Given the description of an element on the screen output the (x, y) to click on. 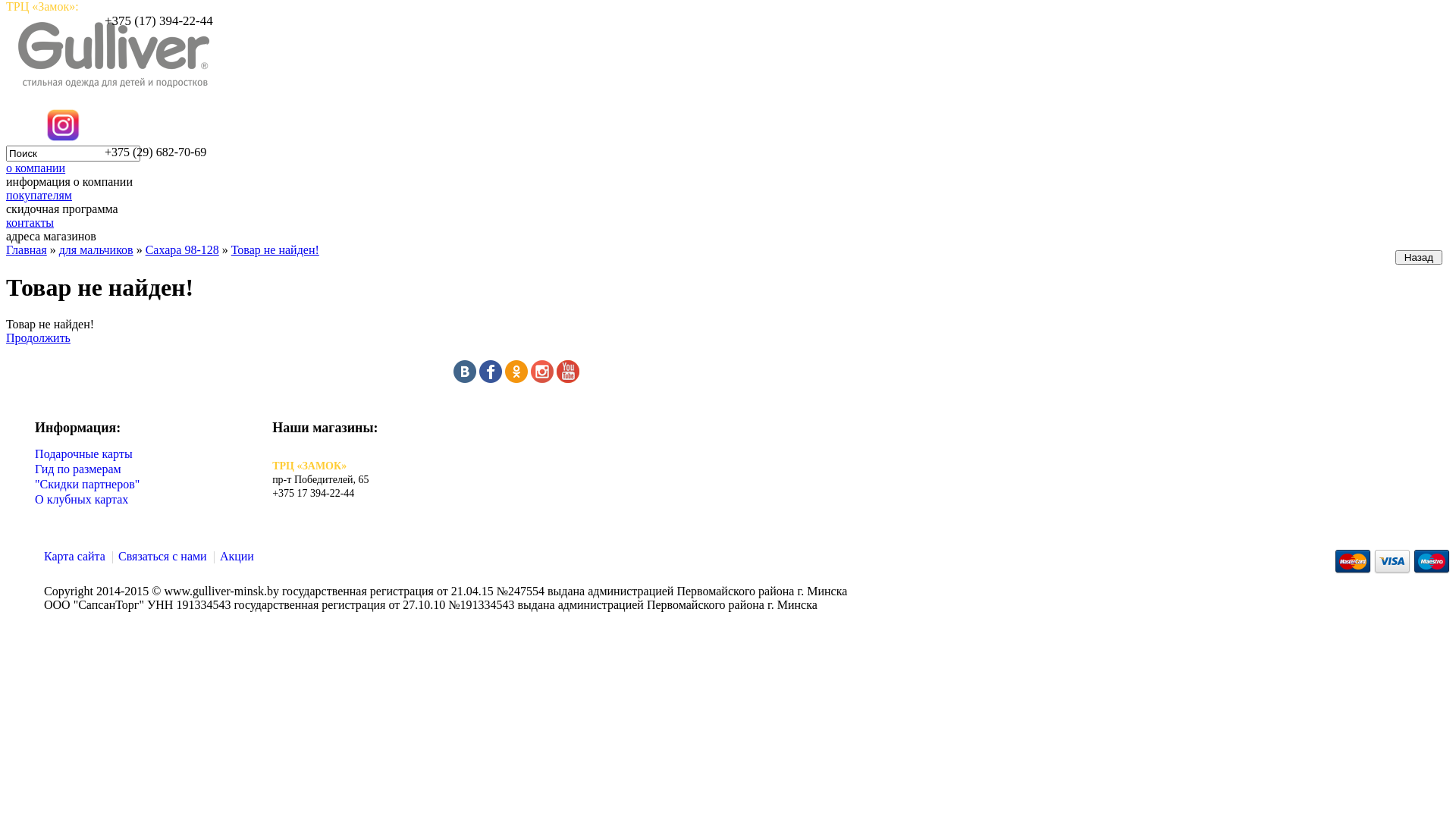
youtube Element type: hover (567, 378)
instagram Element type: hover (541, 378)
